Given the description of an element on the screen output the (x, y) to click on. 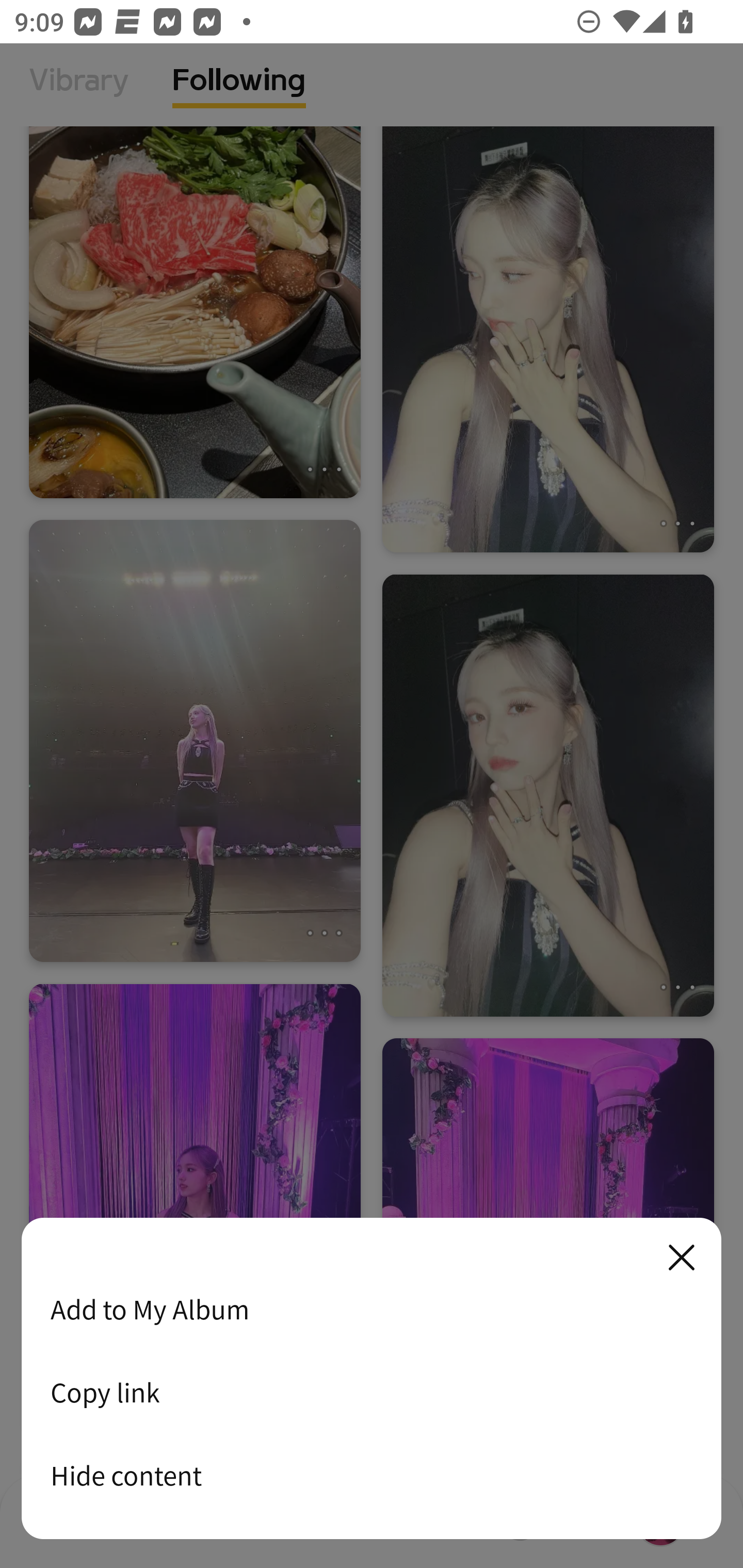
Add to My Album Copy link Hide content (371, 1378)
Add to My Album (371, 1308)
Copy link (371, 1391)
Hide content (371, 1474)
